Given the description of an element on the screen output the (x, y) to click on. 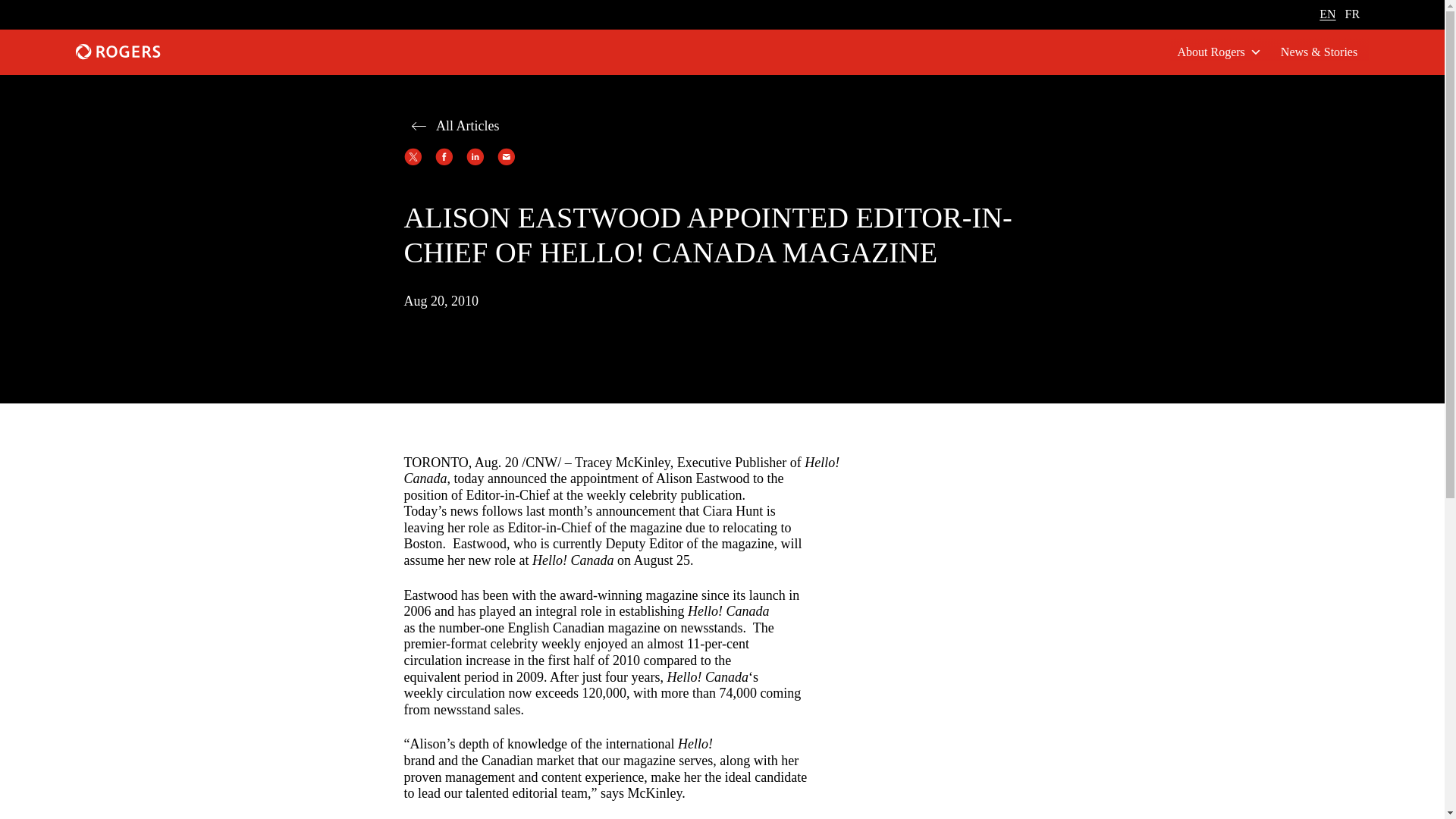
About Rogers (1219, 51)
FR (1352, 14)
EN (1327, 14)
All Articles (451, 125)
